Given the description of an element on the screen output the (x, y) to click on. 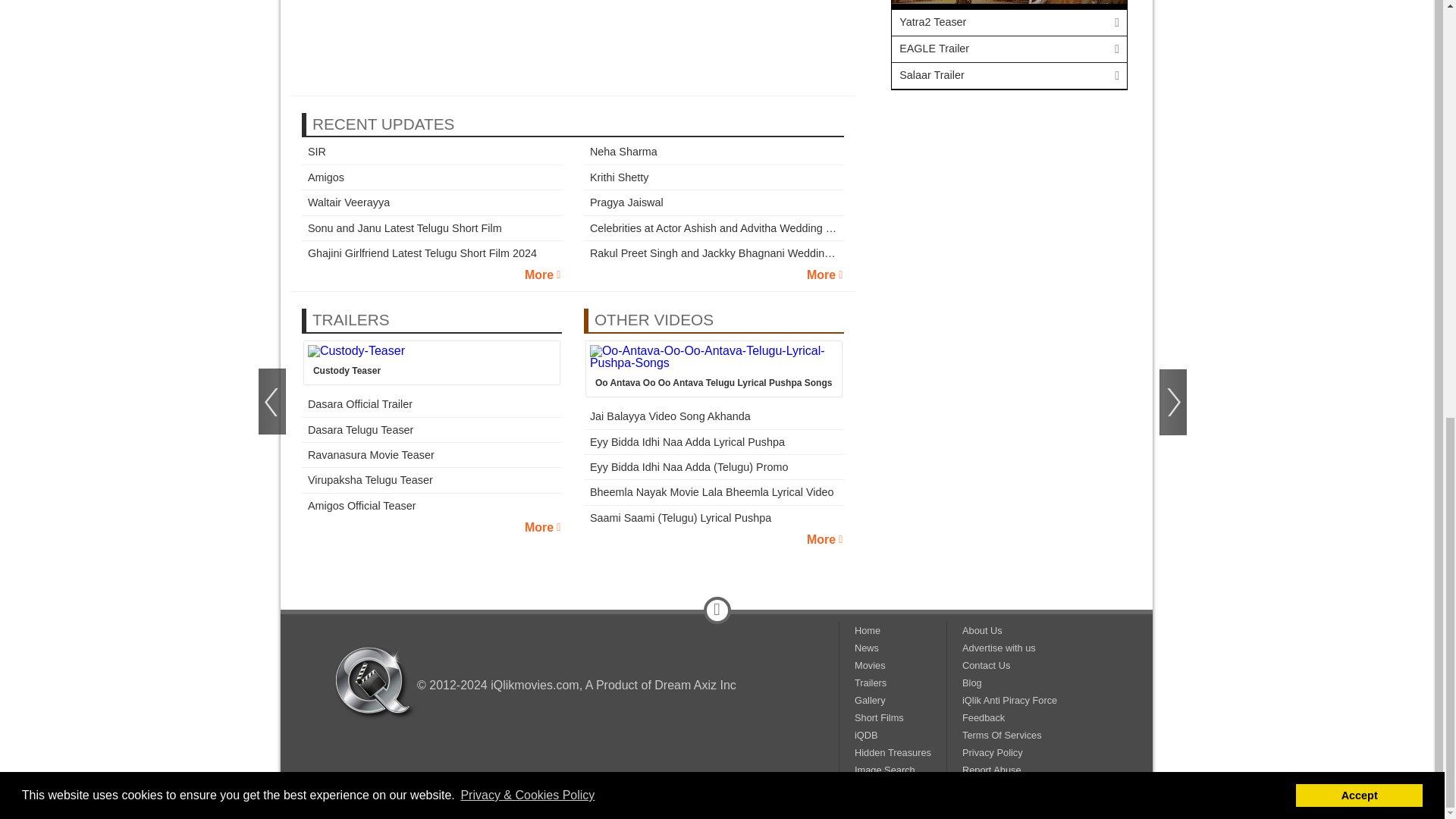
Logo - Home (374, 682)
